Given the description of an element on the screen output the (x, y) to click on. 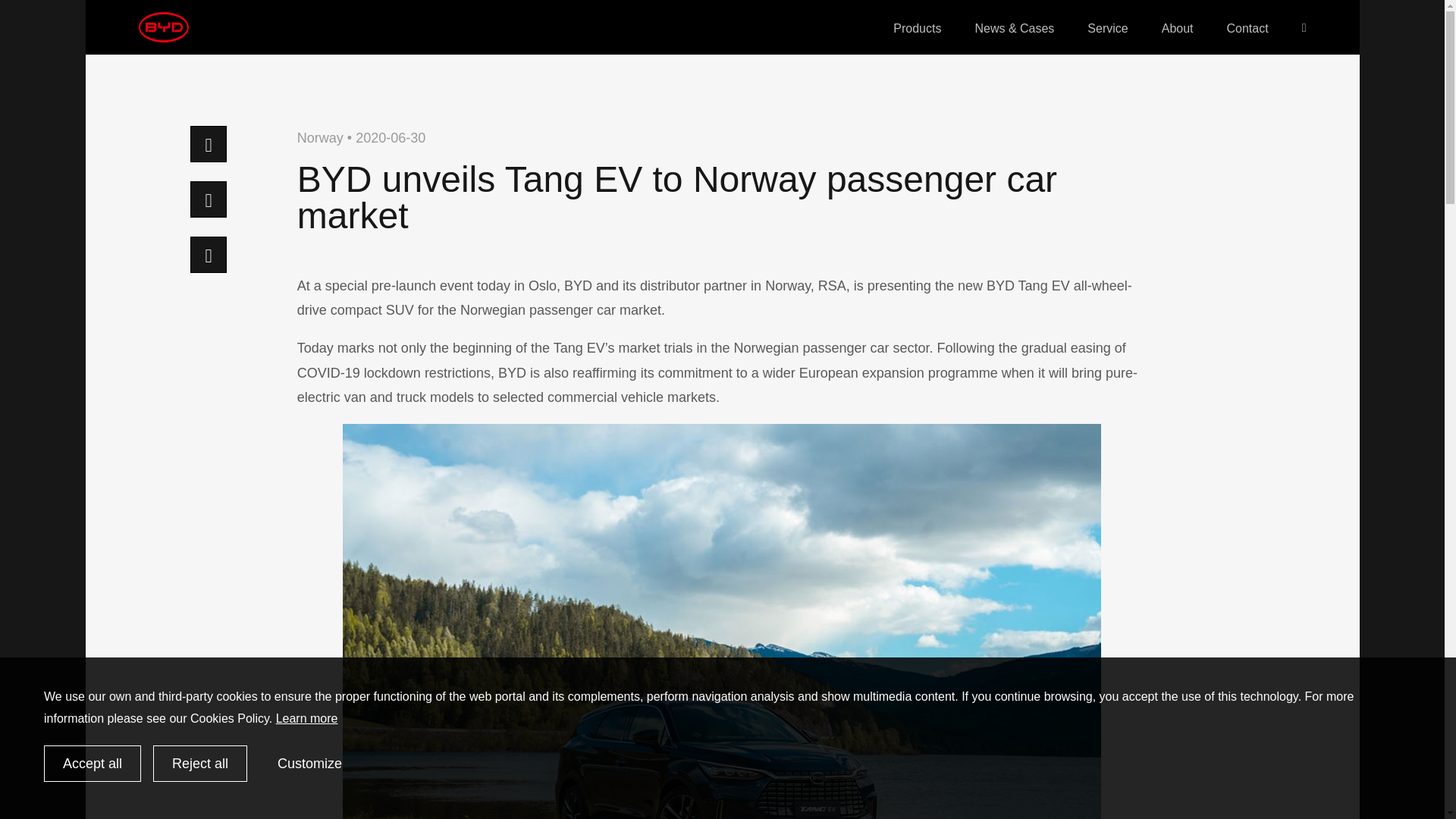
Learn more (306, 717)
